Given the description of an element on the screen output the (x, y) to click on. 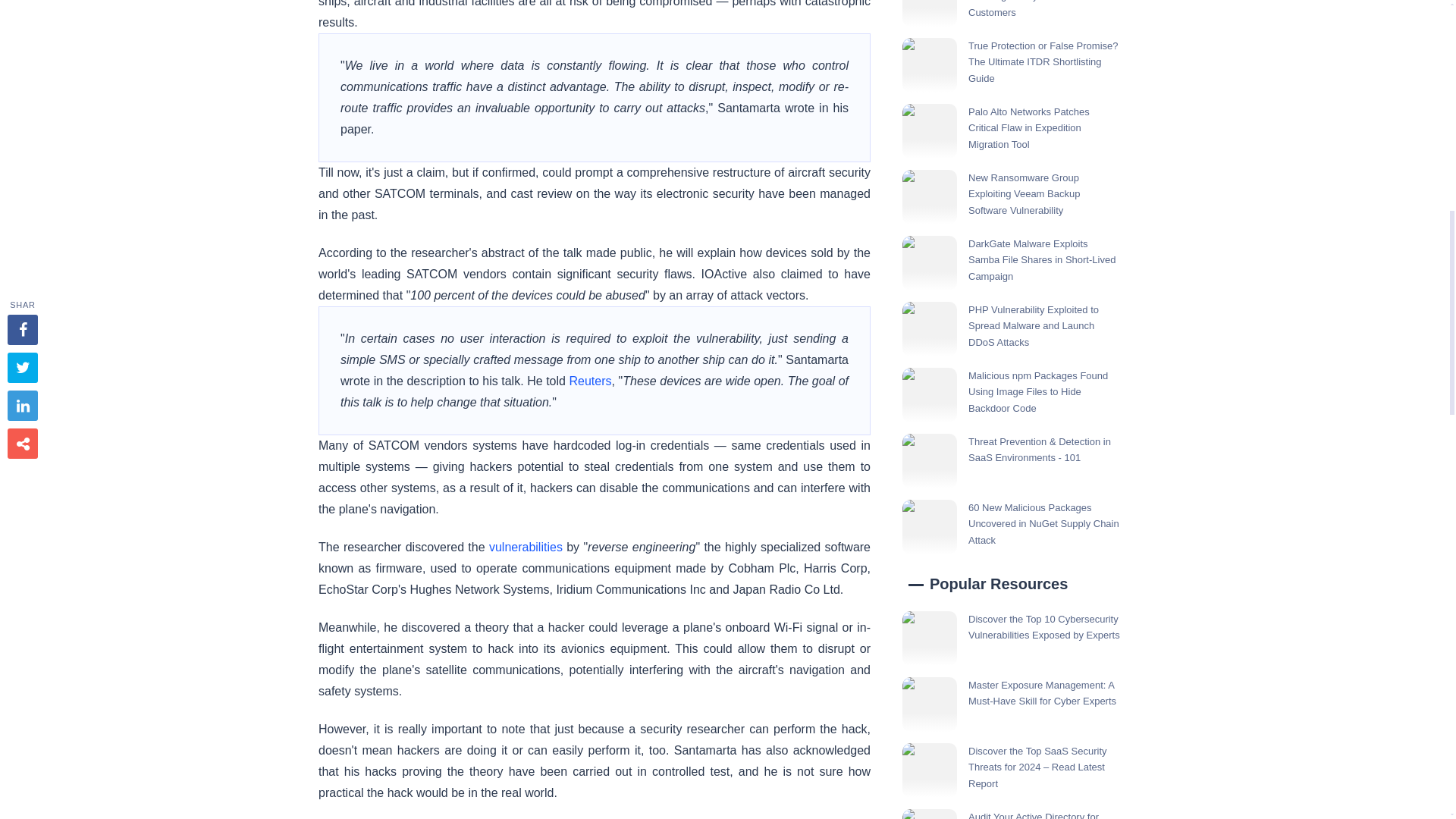
Reuters (590, 380)
